Given the description of an element on the screen output the (x, y) to click on. 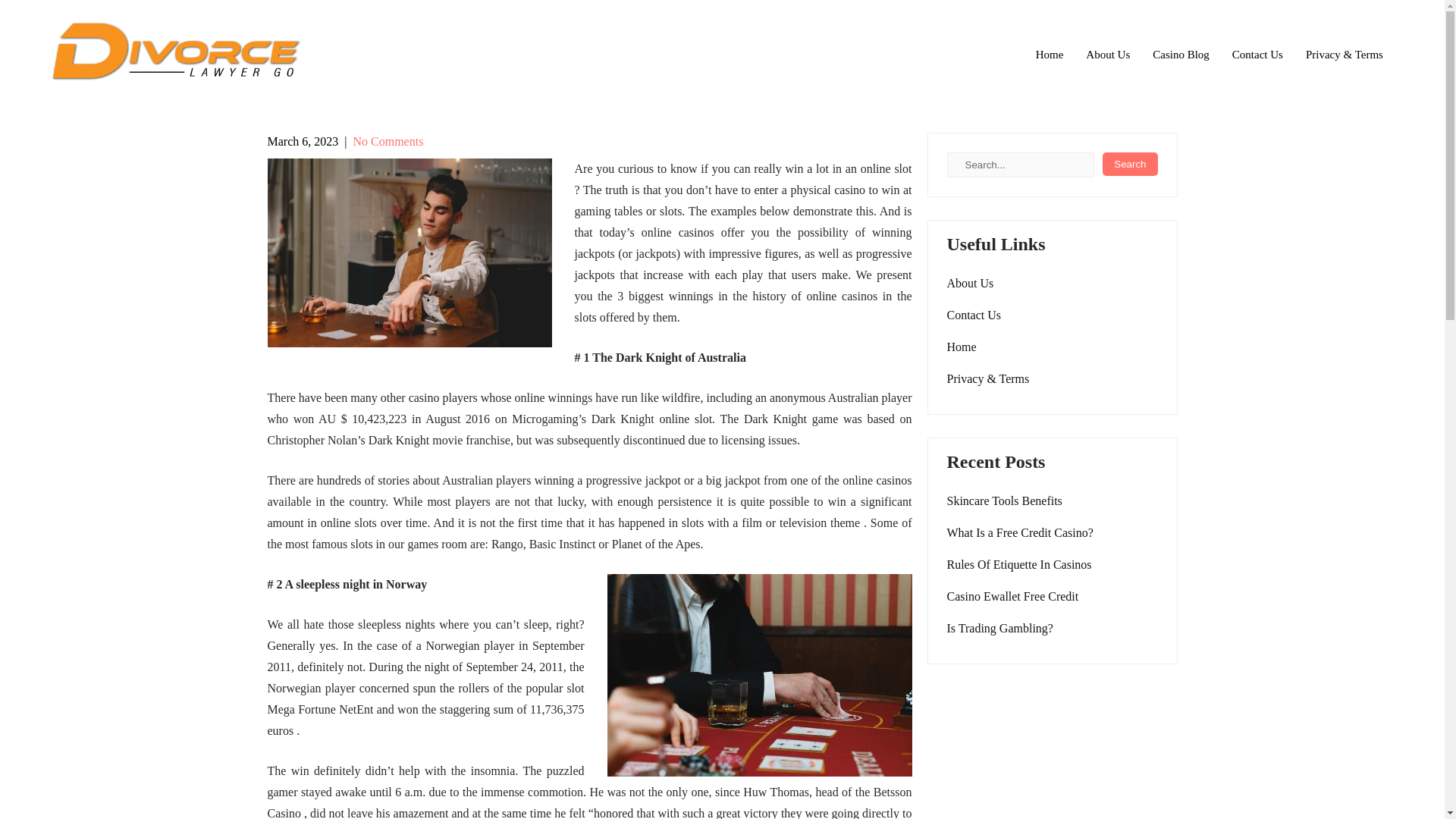
Search (1129, 164)
Home (960, 347)
What Is a Free Credit Casino? (1019, 532)
Search (1129, 164)
Skincare Tools Benefits (1003, 501)
Casino Ewallet Free Credit  (1013, 596)
Contact Us (1257, 54)
About Us (1107, 54)
Rules Of Etiquette In Casinos (1018, 564)
Is Trading Gambling? (999, 628)
